Given the description of an element on the screen output the (x, y) to click on. 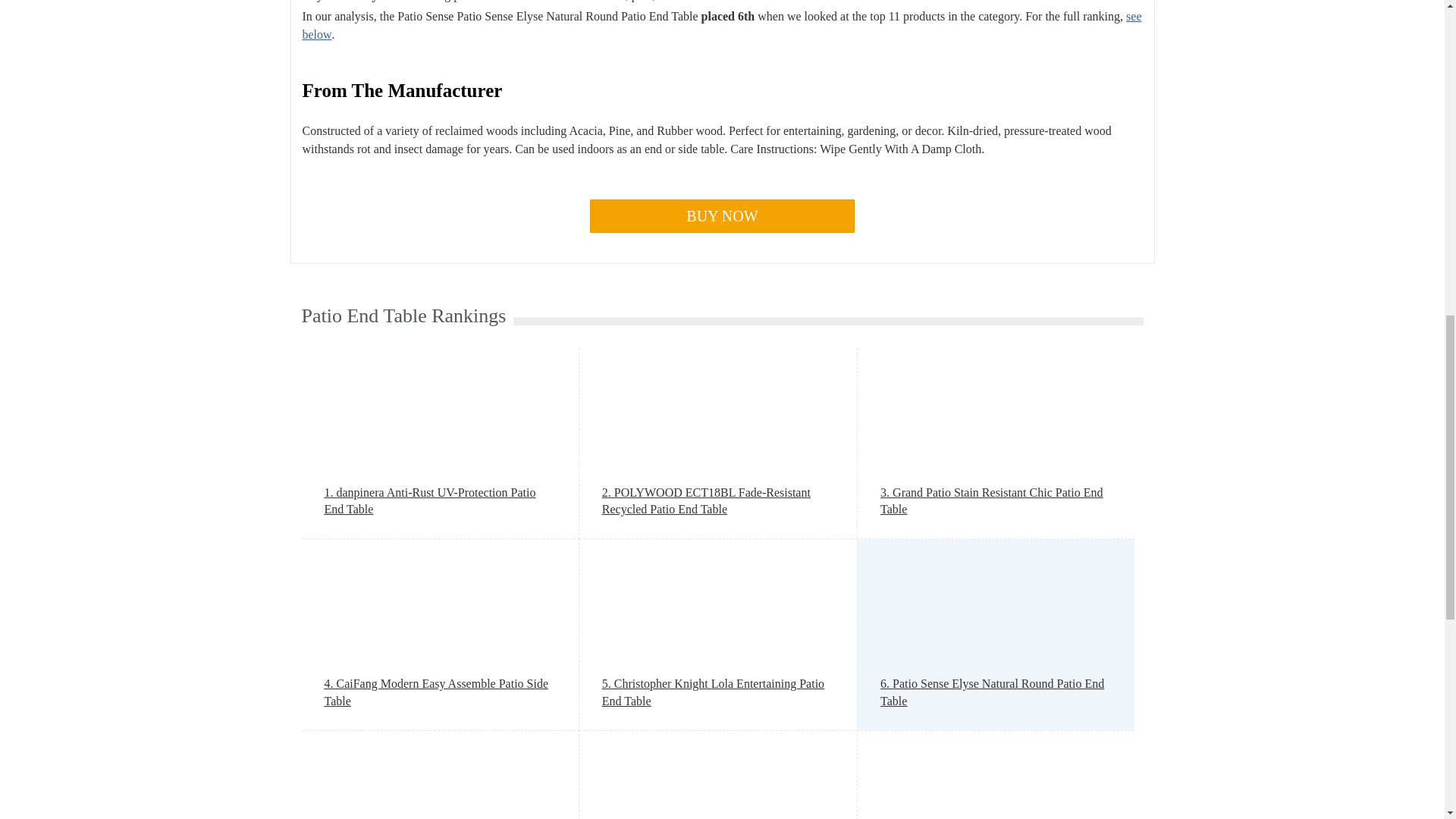
3. Grand Patio Stain Resistant Chic Patio End Table (996, 501)
1. danpinera Anti-Rust UV-Protection Patio End Table (440, 501)
BUY NOW (721, 215)
2. POLYWOOD ECT18BL Fade-Resistant Recycled Patio End Table (718, 501)
see below (721, 24)
